Given the description of an element on the screen output the (x, y) to click on. 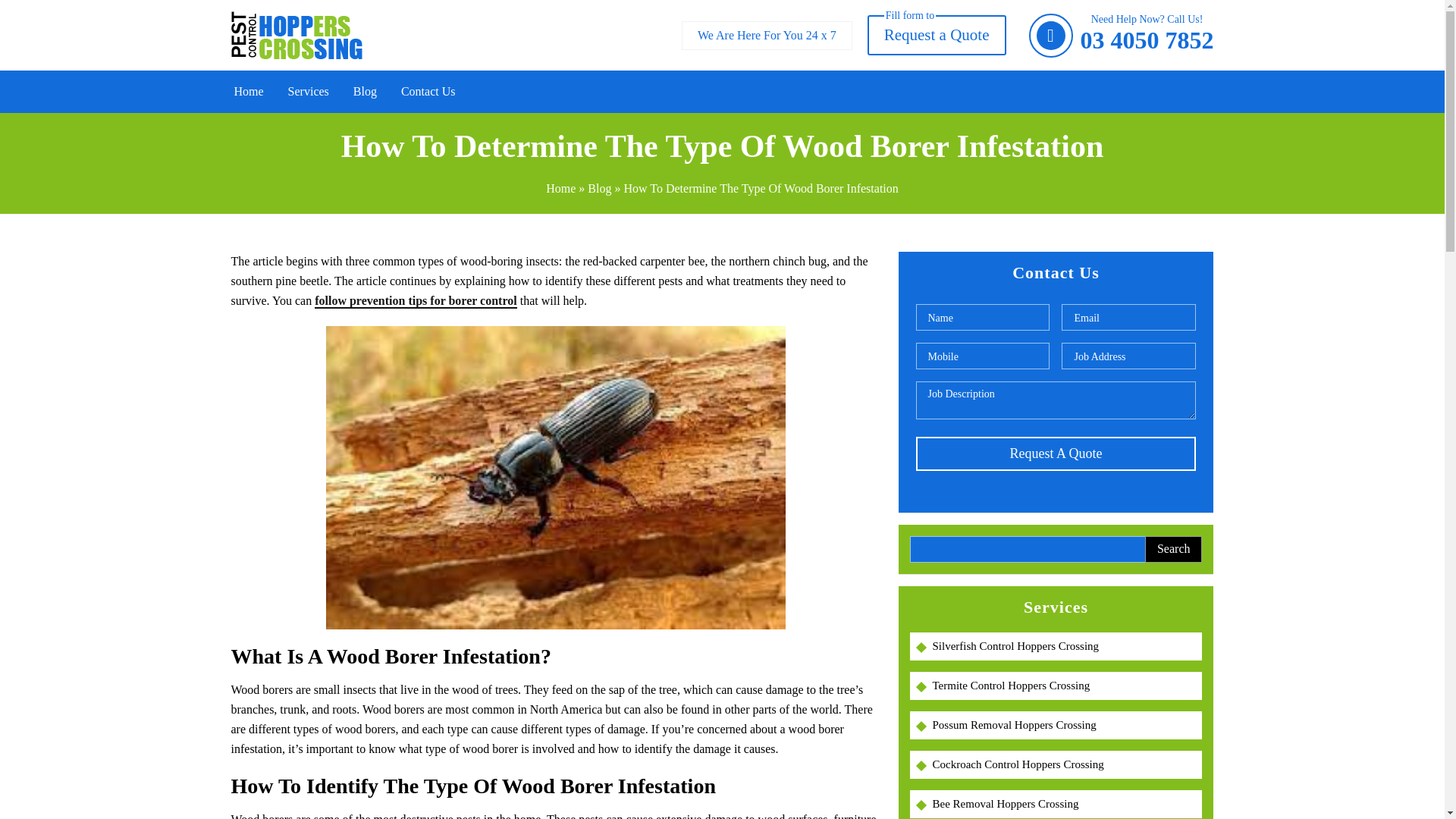
Services (308, 91)
Search (1173, 549)
Request A Quote (1055, 453)
Home (248, 91)
